Given the description of an element on the screen output the (x, y) to click on. 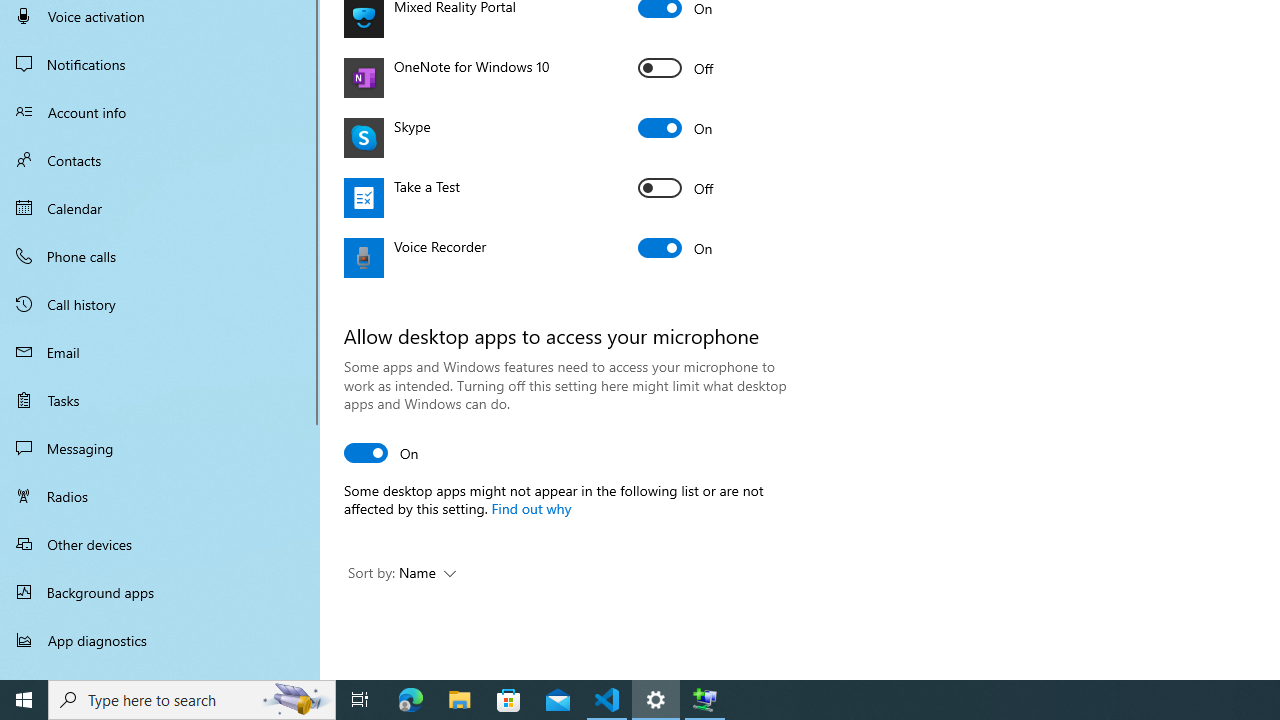
Skype (675, 128)
Notifications (160, 63)
Allow desktop apps to access your microphone (381, 452)
Other devices (160, 543)
Extensible Wizards Host Process - 1 running window (704, 699)
Take a Test (675, 187)
Email (160, 351)
Phone calls (160, 255)
